Given the description of an element on the screen output the (x, y) to click on. 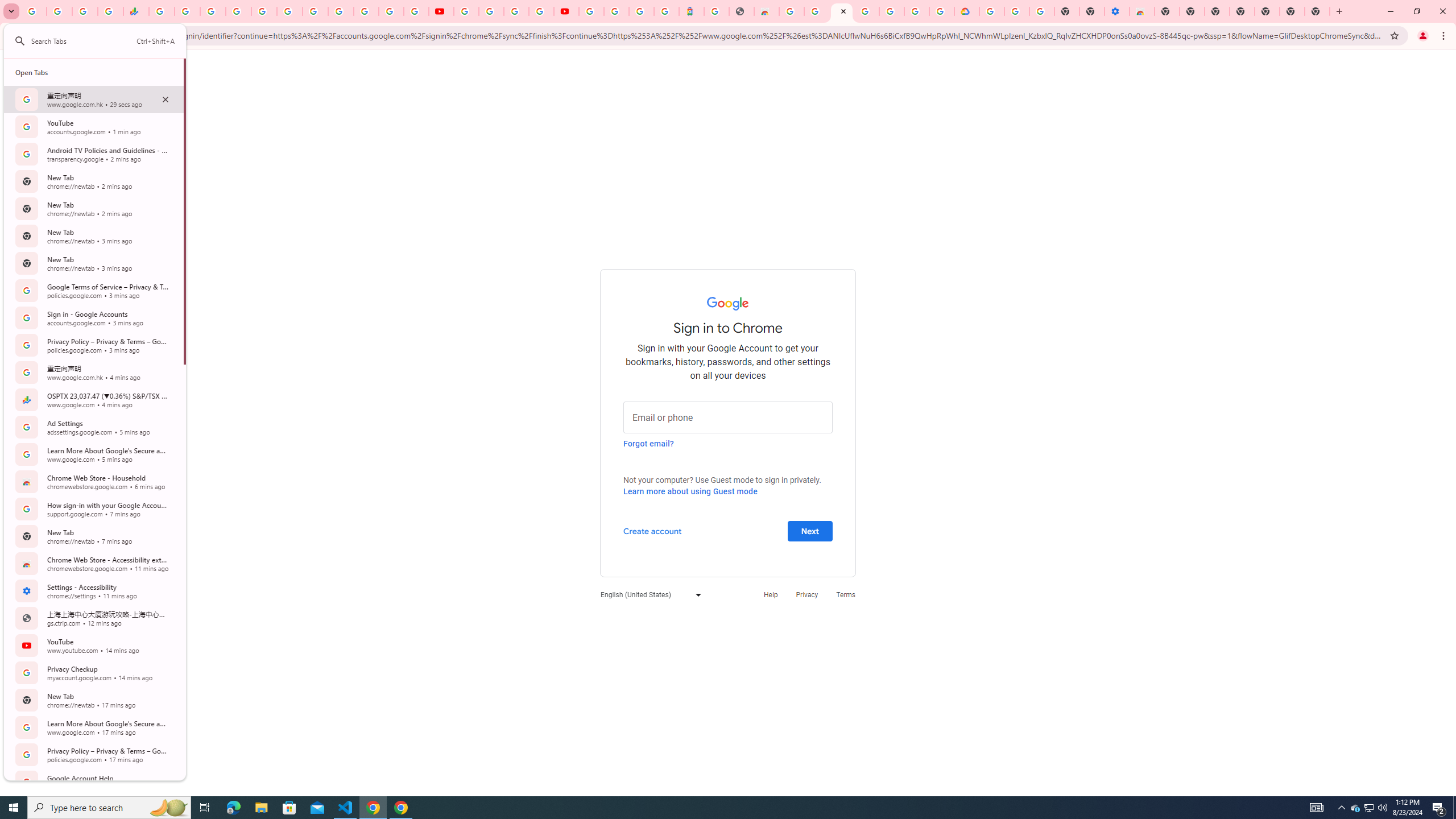
Sign in - Google Accounts (590, 11)
Sign in - Google Accounts (841, 11)
Privacy Checkup (415, 11)
New Tab newtab 7 mins ago Open Tab (93, 536)
Running applications (717, 807)
Start (13, 807)
Create your Google Account (516, 11)
Microsoft Edge (233, 807)
